Given the description of an element on the screen output the (x, y) to click on. 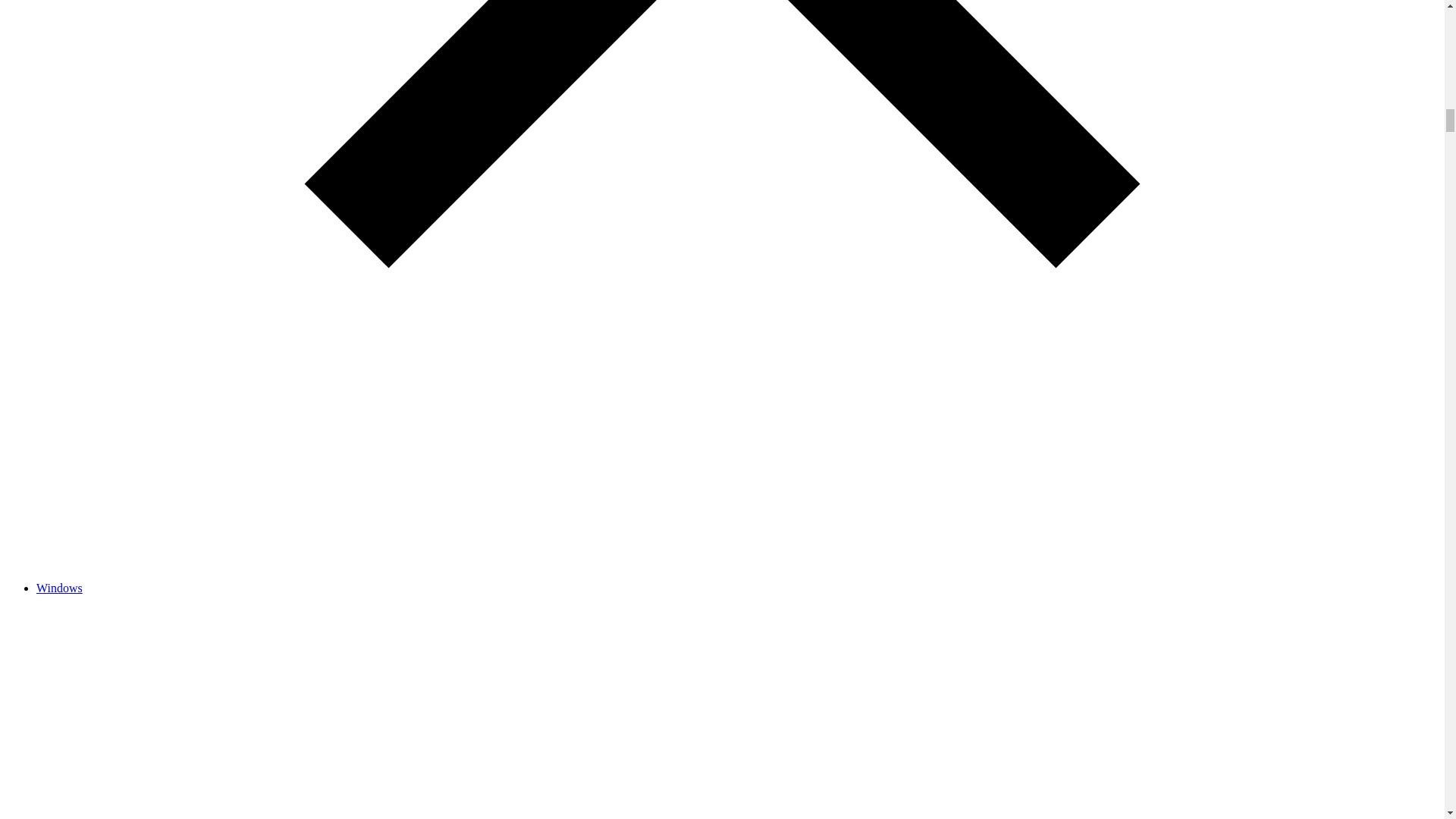
Windows (59, 587)
